Given the description of an element on the screen output the (x, y) to click on. 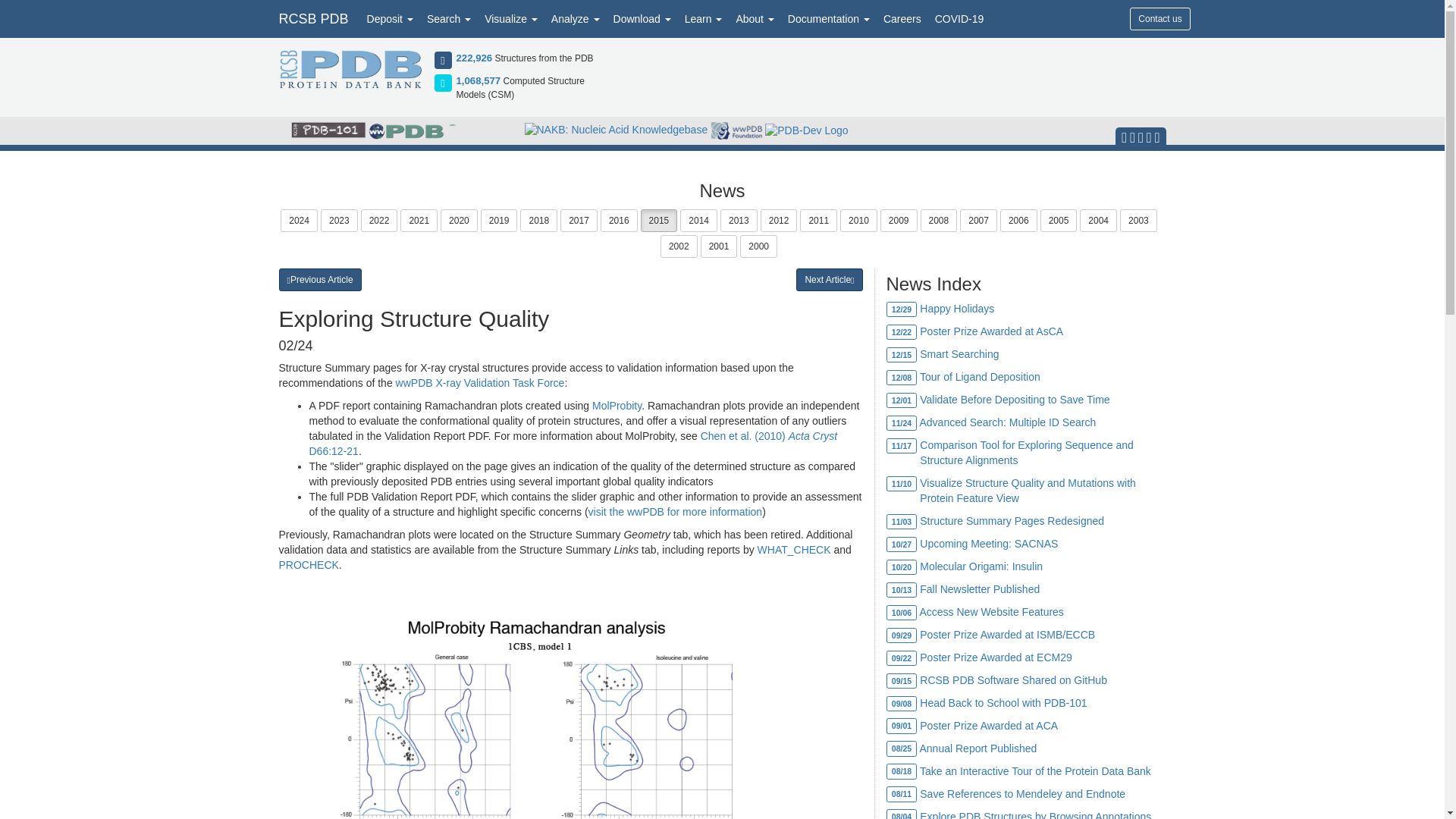
Analyze  (575, 18)
Deposit  (389, 18)
Visualize  (510, 18)
RCSB PDB (312, 18)
Search  (448, 18)
